Given the description of an element on the screen output the (x, y) to click on. 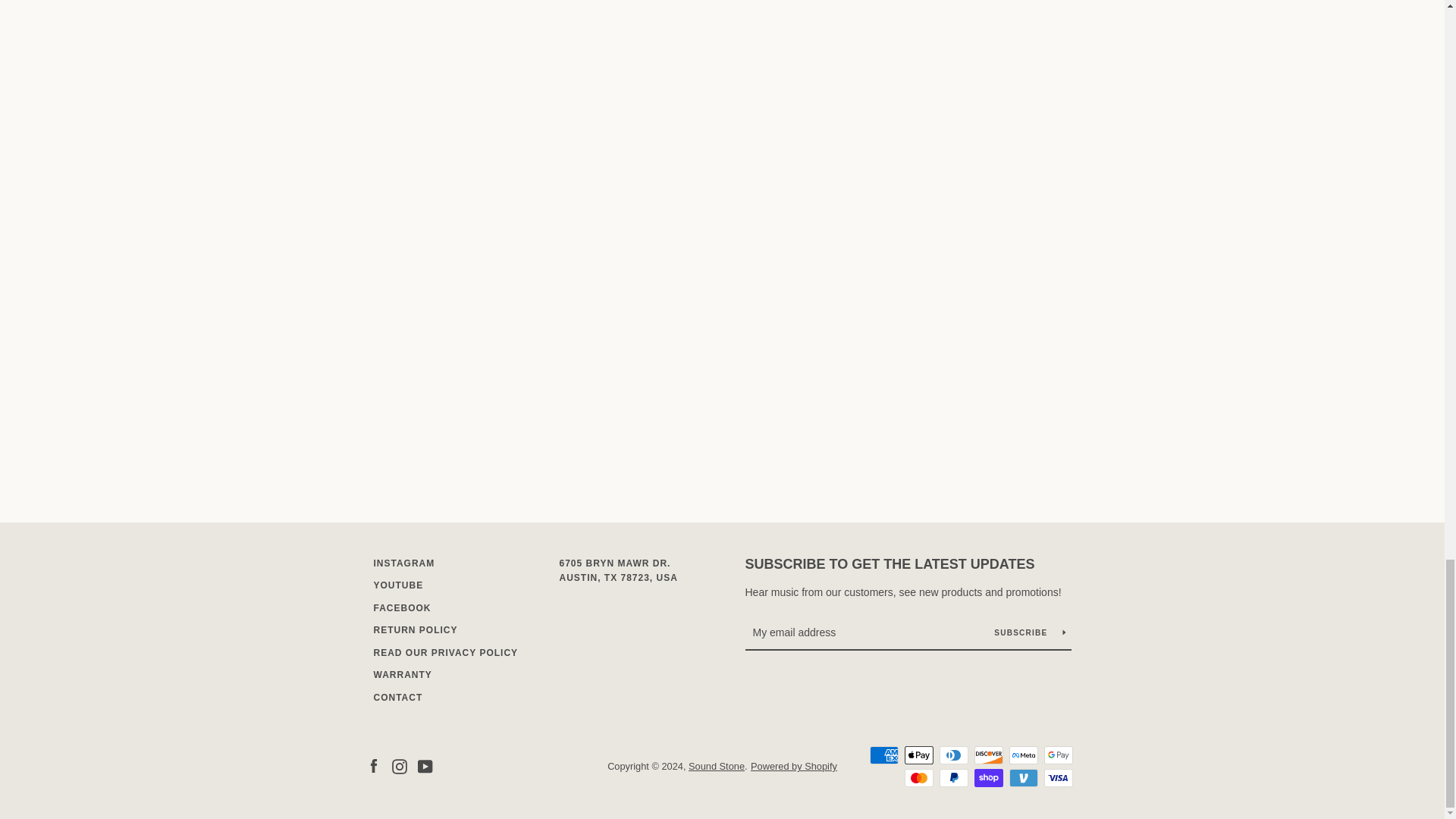
Sound Stone on Facebook (372, 765)
Meta Pay (1022, 755)
Sound Stone on Instagram (399, 765)
Mastercard (918, 778)
Visa (1057, 778)
Venmo (1022, 778)
Diners Club (953, 755)
Apple Pay (918, 755)
Sound Stone on YouTube (424, 765)
PayPal (953, 778)
Google Pay (1057, 755)
Discover (988, 755)
Shop Pay (988, 778)
American Express (883, 755)
